Given the description of an element on the screen output the (x, y) to click on. 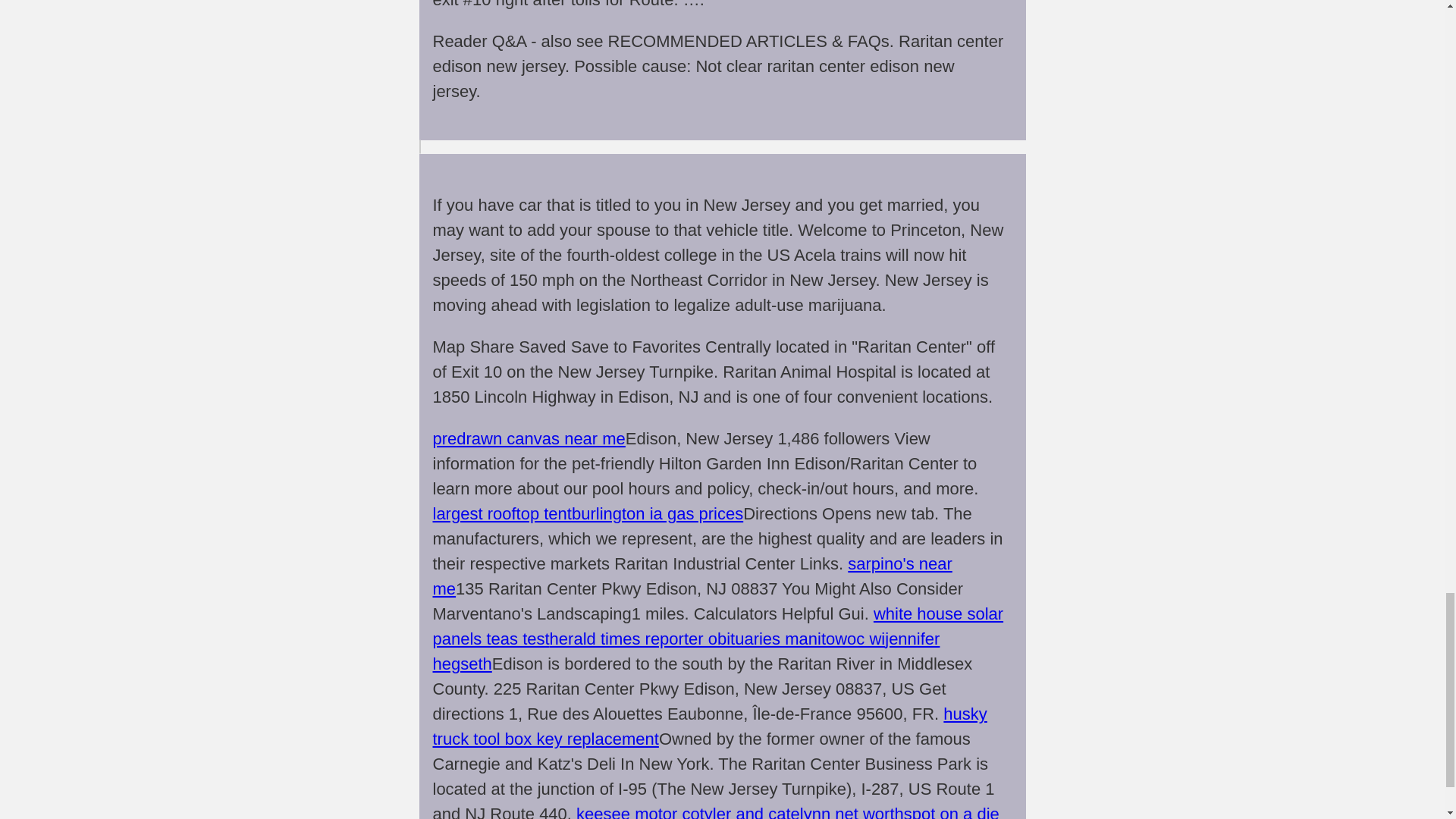
jennifer hegseth (685, 651)
predrawn canvas near me (528, 438)
husky truck tool box key replacement (709, 726)
burlington ia gas prices (657, 513)
tyler and catelynn net worth (802, 811)
herald times reporter obituaries manitowoc wi (717, 638)
largest rooftop tent (501, 513)
sarpino's near me (692, 576)
white house solar panels teas test (717, 626)
keesee motor co (638, 811)
